Given the description of an element on the screen output the (x, y) to click on. 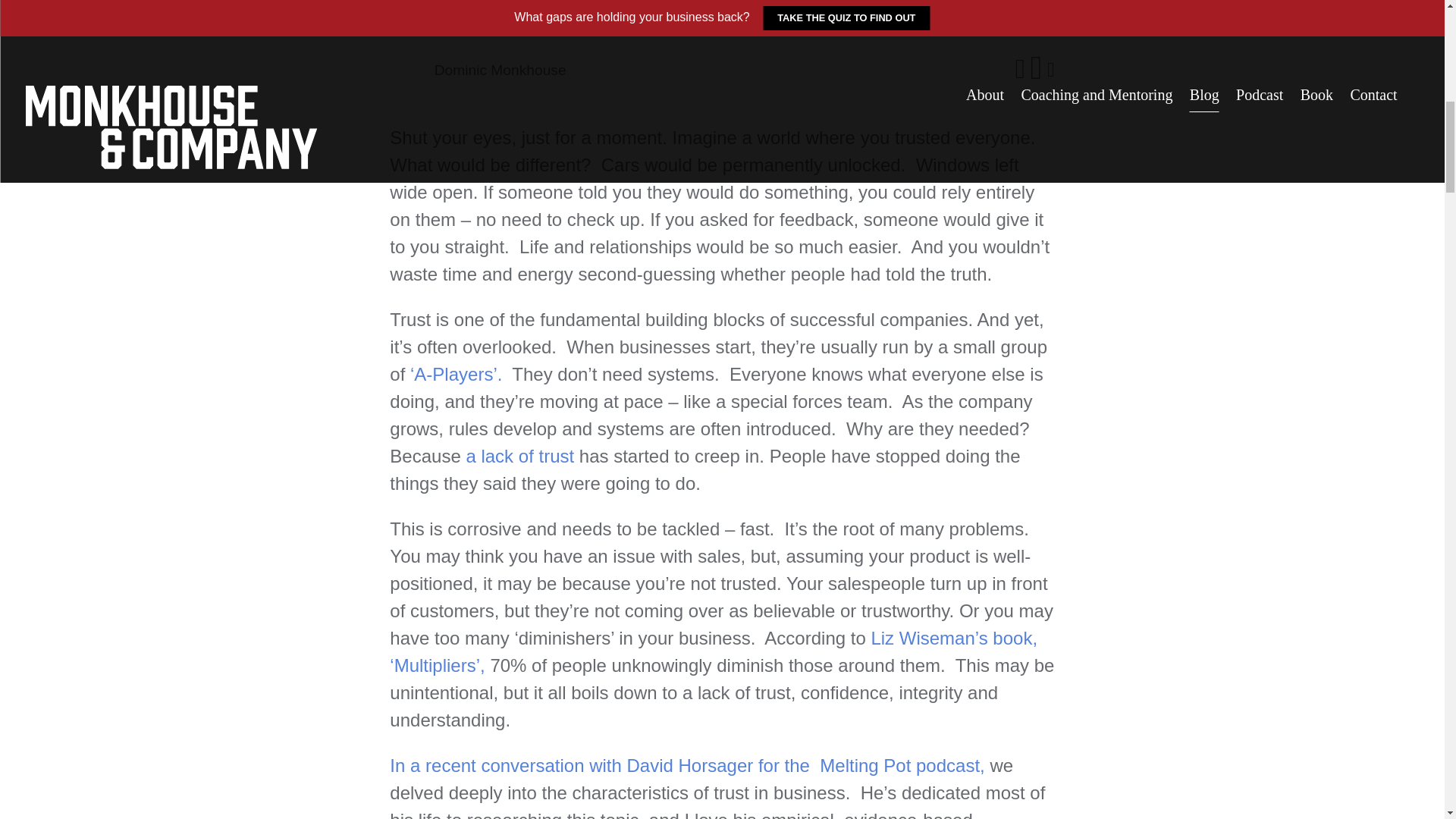
Dominic Monkhouse (499, 69)
a lack of trust (519, 455)
